Given the description of an element on the screen output the (x, y) to click on. 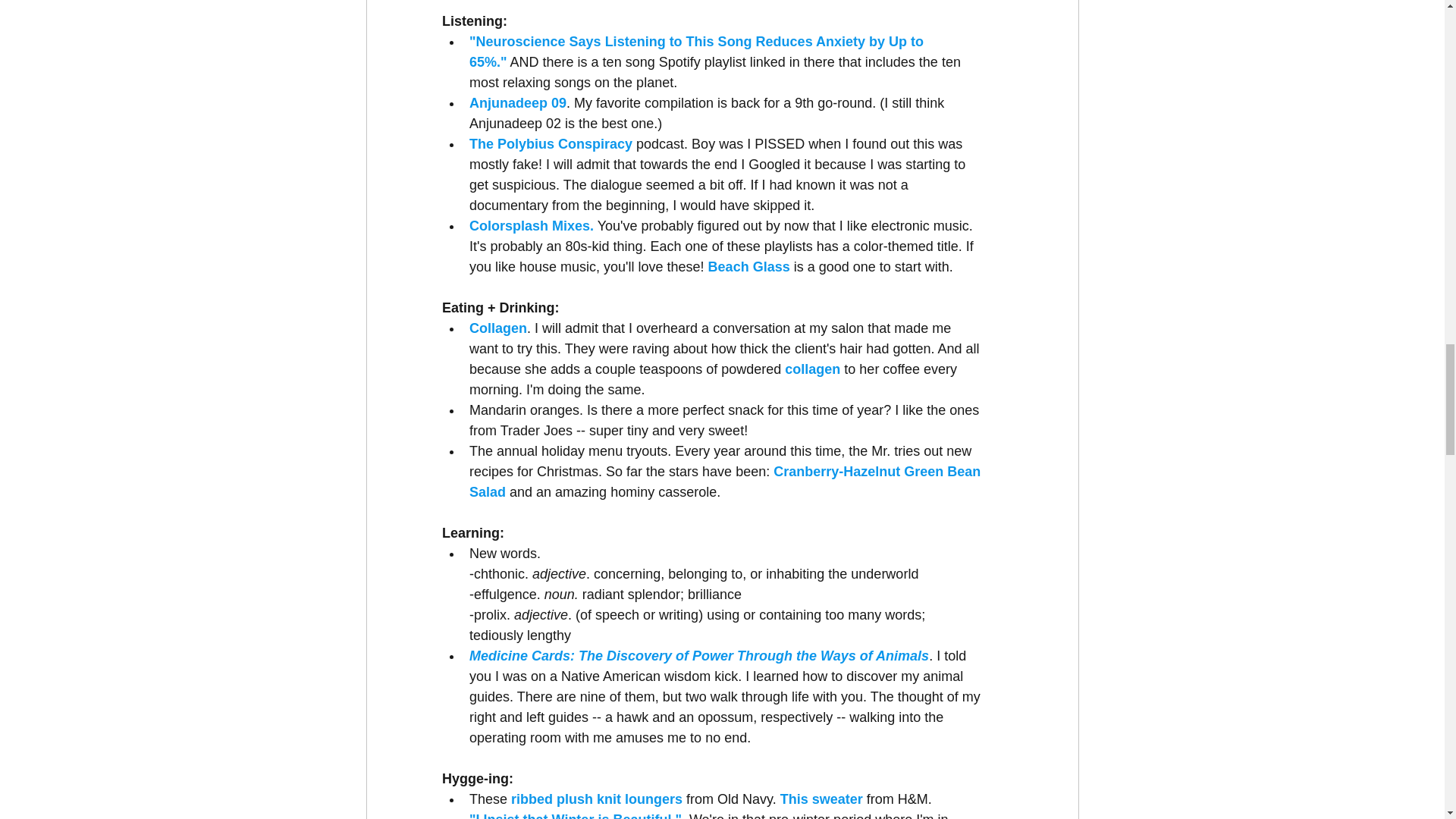
Collagen (496, 328)
Colorsplash Mixes. (530, 225)
This sweater (819, 798)
collagen (812, 368)
ribbed plush knit loungers  (598, 798)
Beach Glass (748, 266)
Cranberry-Hazelnut Green Bean Salad (726, 481)
Anjunadeep 09 (517, 102)
The Polybius Conspiracy (549, 143)
"I Insist that Winter is Beautiful." (574, 815)
